Given the description of an element on the screen output the (x, y) to click on. 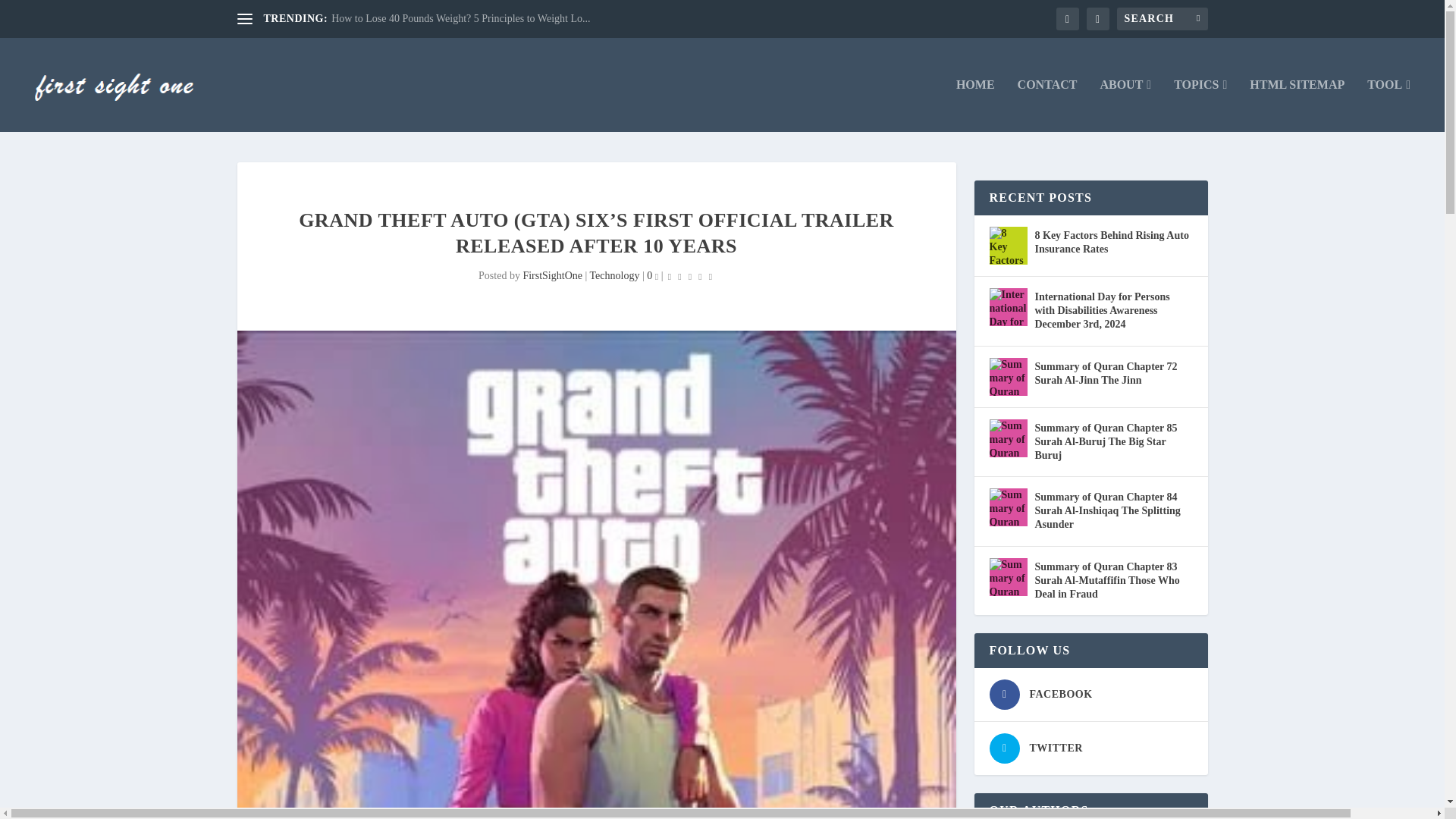
Rating: 0.00 (689, 275)
Technology (614, 275)
Posts by FirstSightOne (552, 275)
CONTACT (1047, 104)
ABOUT (1125, 104)
0 (652, 275)
Search for: (1161, 18)
HTML SITEMAP (1296, 104)
8 Key Factors Behind Rising Auto Insurance Rates (1007, 245)
